Given the description of an element on the screen output the (x, y) to click on. 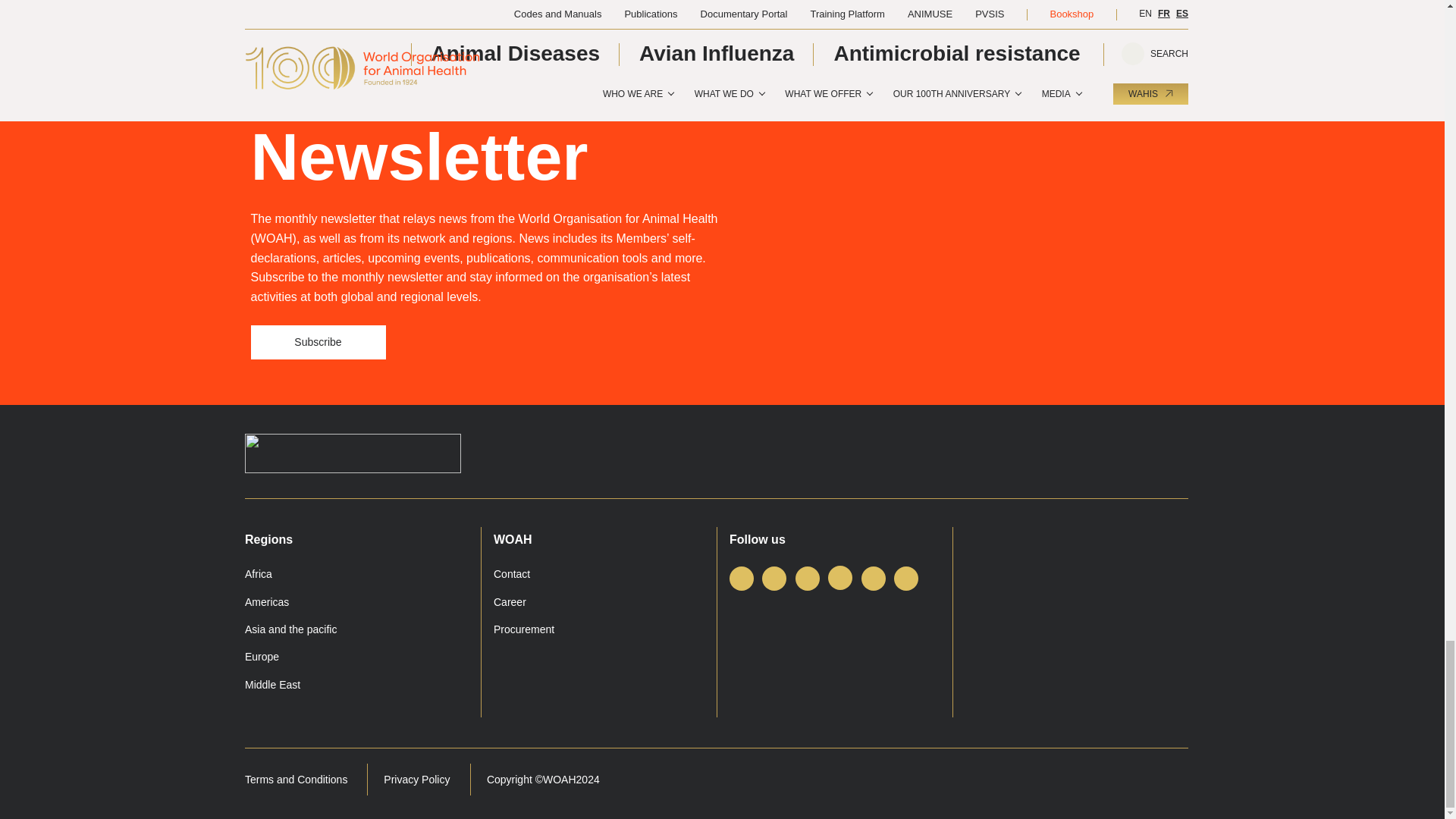
facebook (741, 578)
instagram (839, 577)
flickr (905, 578)
youtube (873, 578)
twitter (773, 578)
linkedin (806, 578)
